Given the description of an element on the screen output the (x, y) to click on. 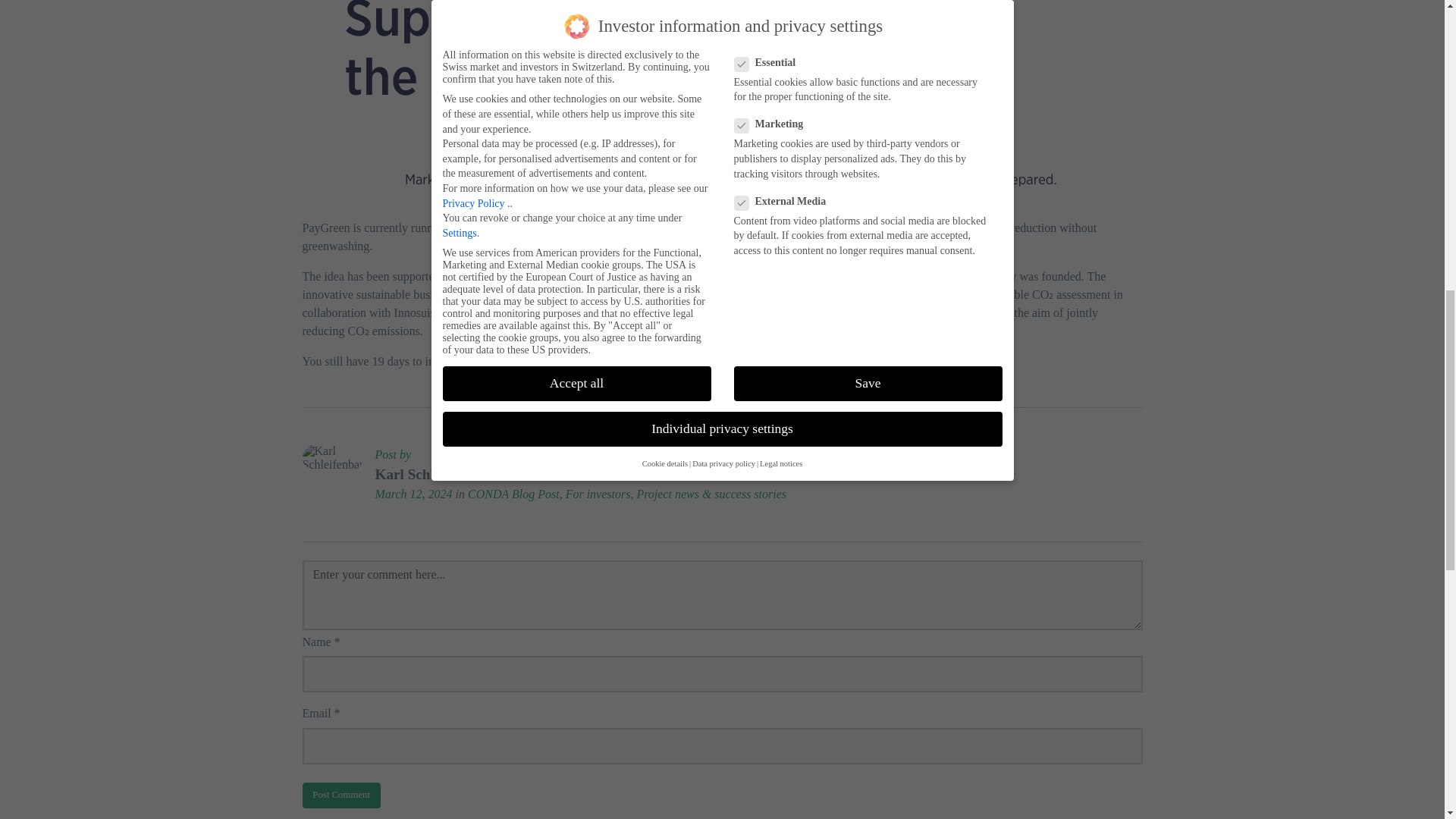
Post Comment (340, 795)
Post Comment (340, 795)
Karl Schleifenbaum (436, 474)
CONDA Blog Post (513, 493)
For investors (598, 493)
